Given the description of an element on the screen output the (x, y) to click on. 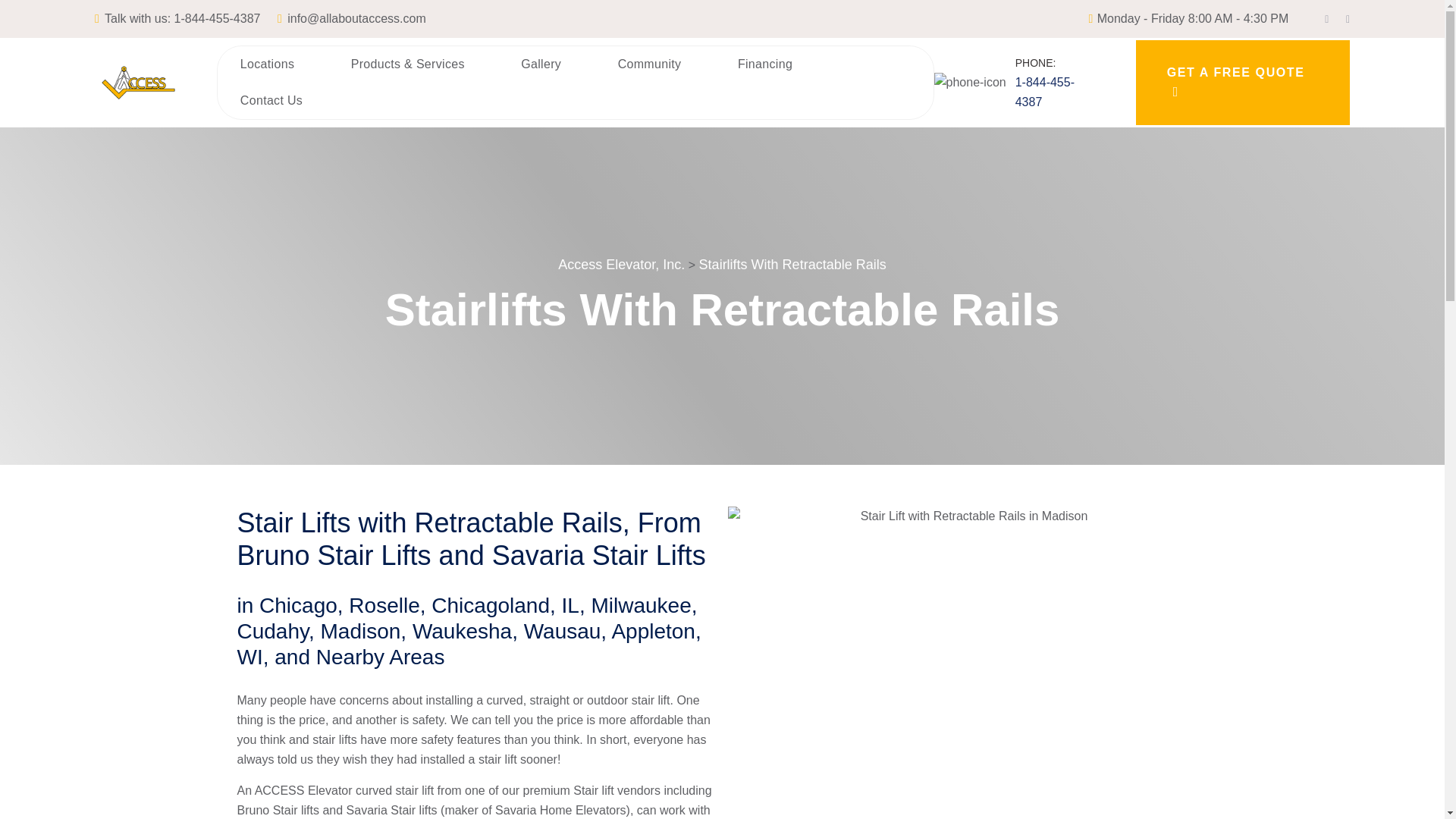
1-844-455-4387 (217, 18)
Locations (267, 63)
Locations (267, 63)
